Given the description of an element on the screen output the (x, y) to click on. 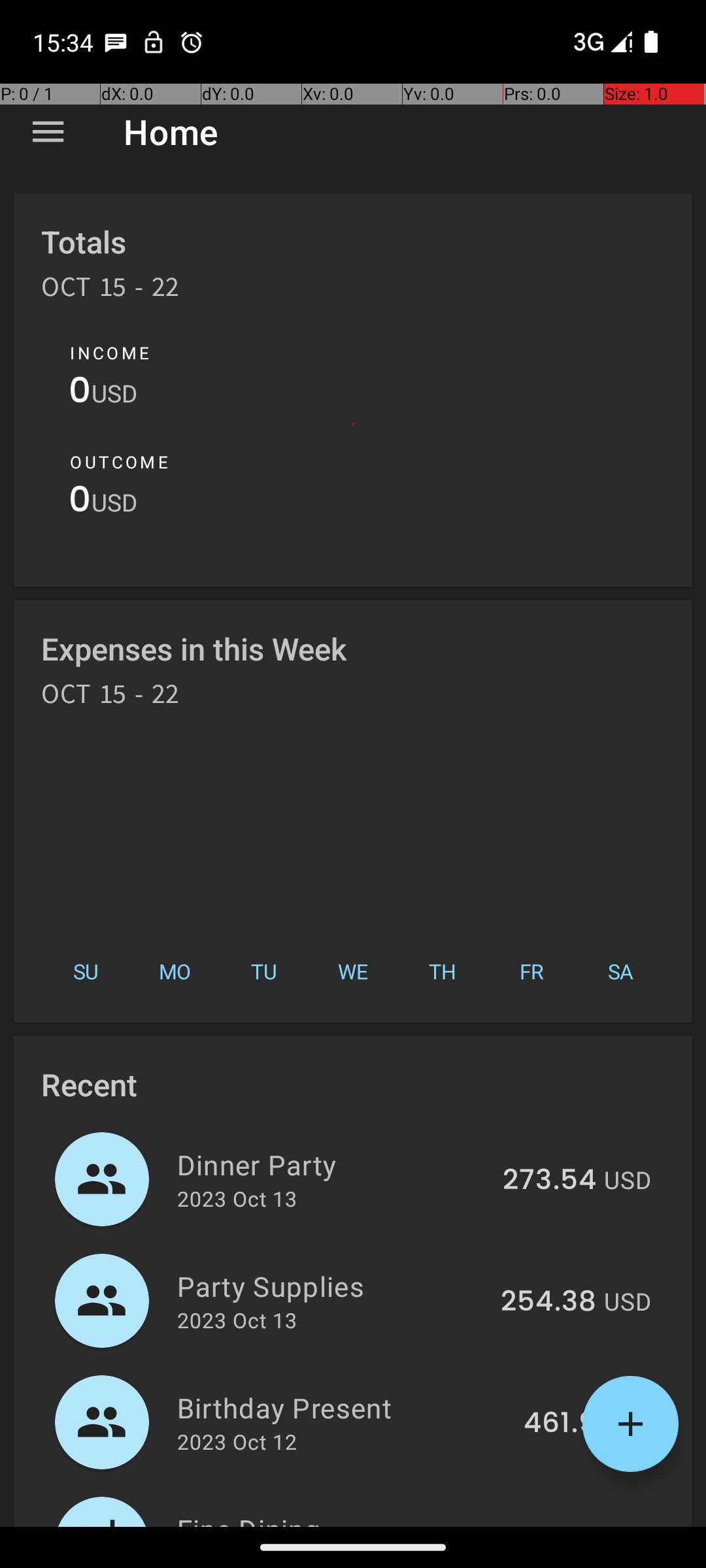
273.54 Element type: android.widget.TextView (549, 1180)
254.38 Element type: android.widget.TextView (548, 1301)
461.9 Element type: android.widget.TextView (559, 1423)
162.92 Element type: android.widget.TextView (552, 1524)
